Given the description of an element on the screen output the (x, y) to click on. 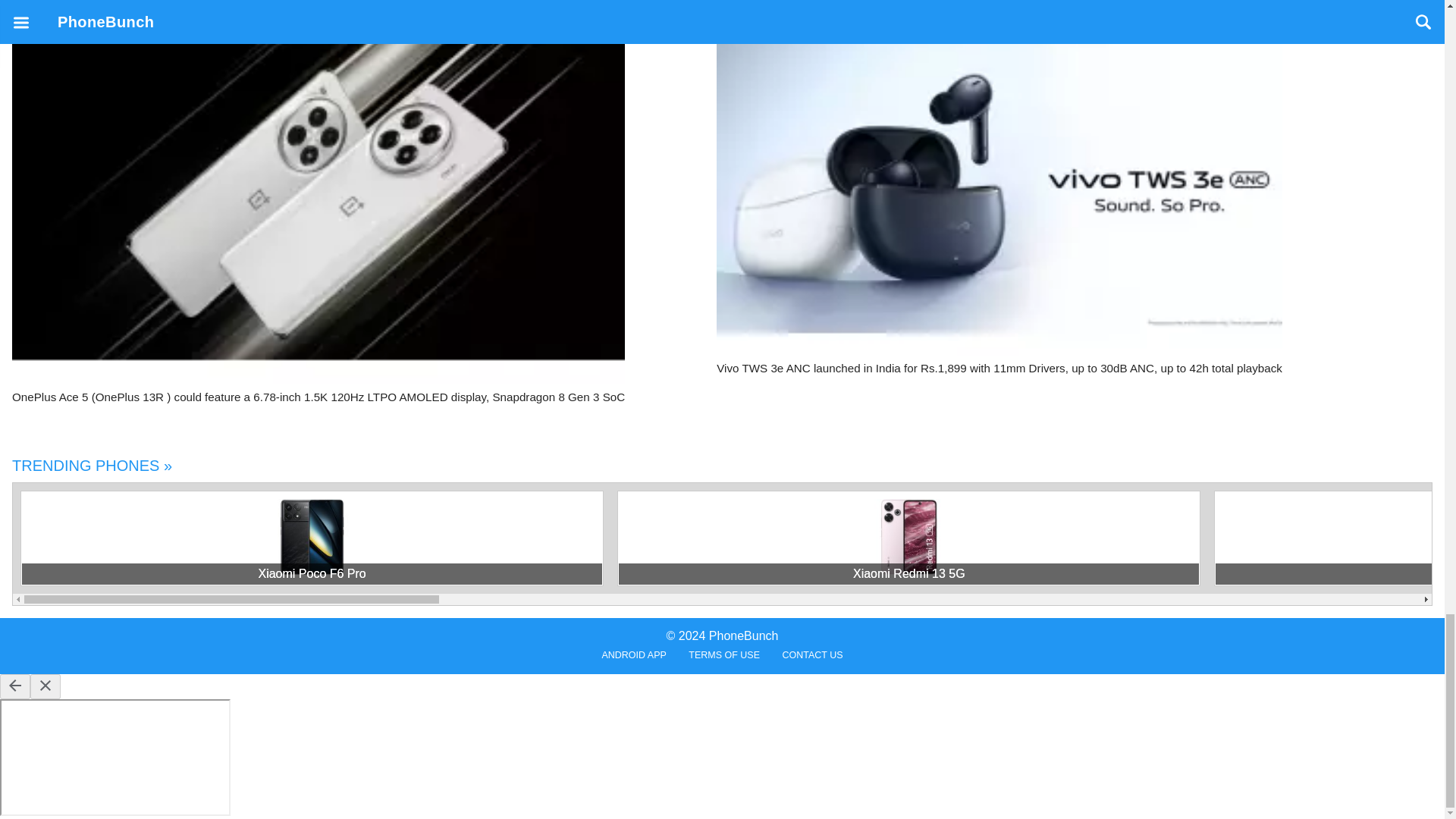
Xiaomi Poco F6 Pro (311, 573)
Xiaomi Redmi 13 5G (908, 573)
